Given the description of an element on the screen output the (x, y) to click on. 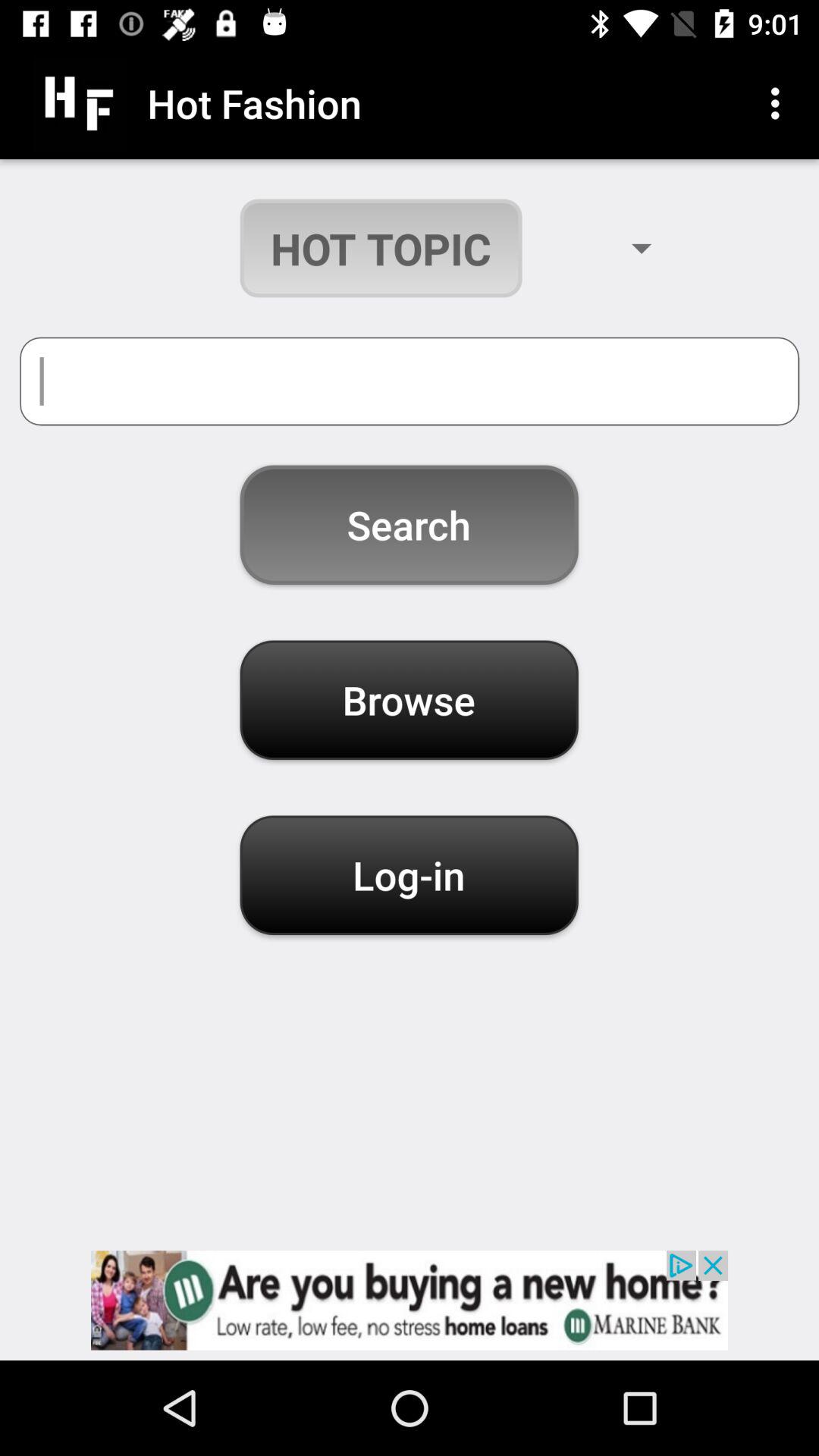
home (409, 1300)
